Given the description of an element on the screen output the (x, y) to click on. 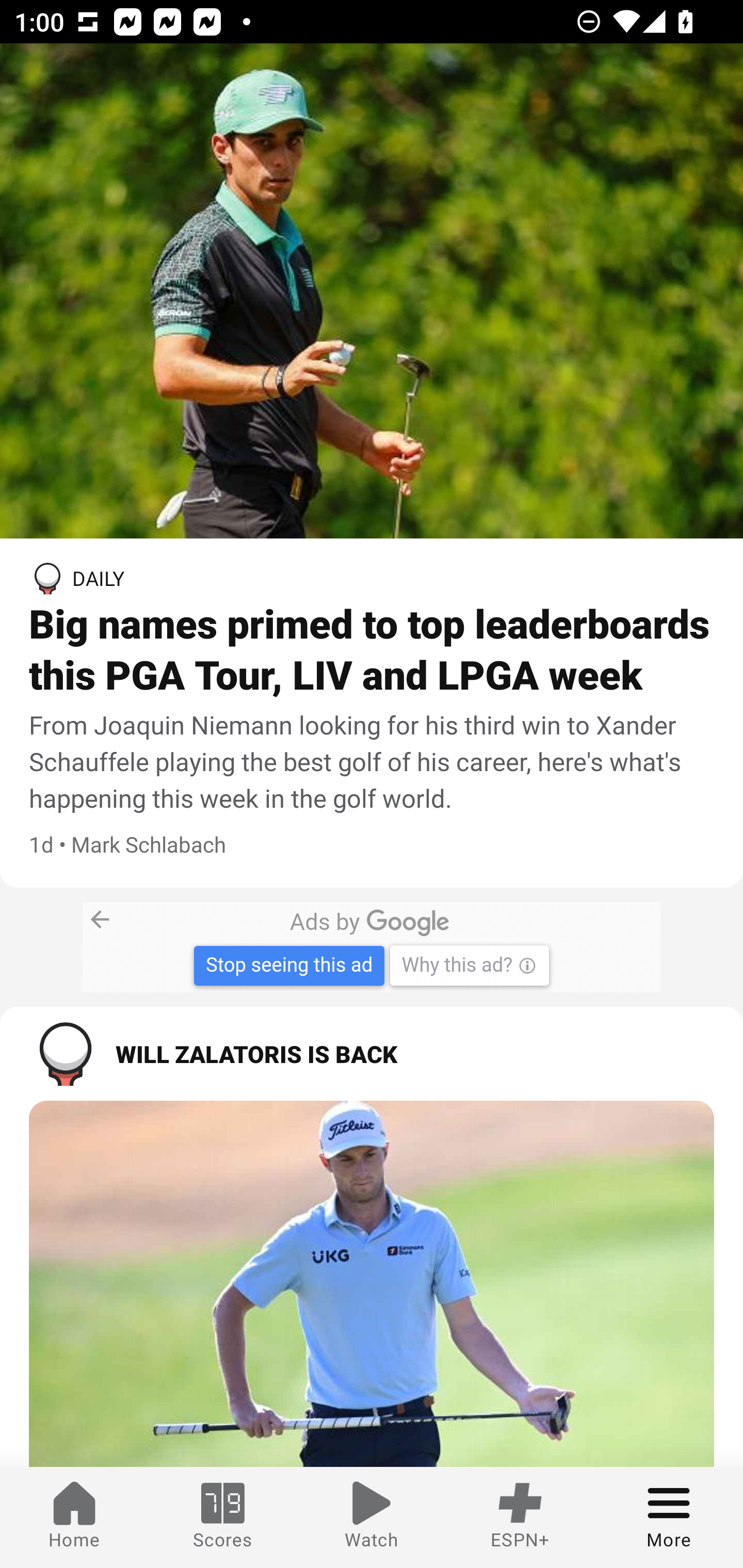
WILL ZALATORIS IS BACK (371, 1053)
Home (74, 1517)
Scores (222, 1517)
Watch (371, 1517)
ESPN+ (519, 1517)
